Given the description of an element on the screen output the (x, y) to click on. 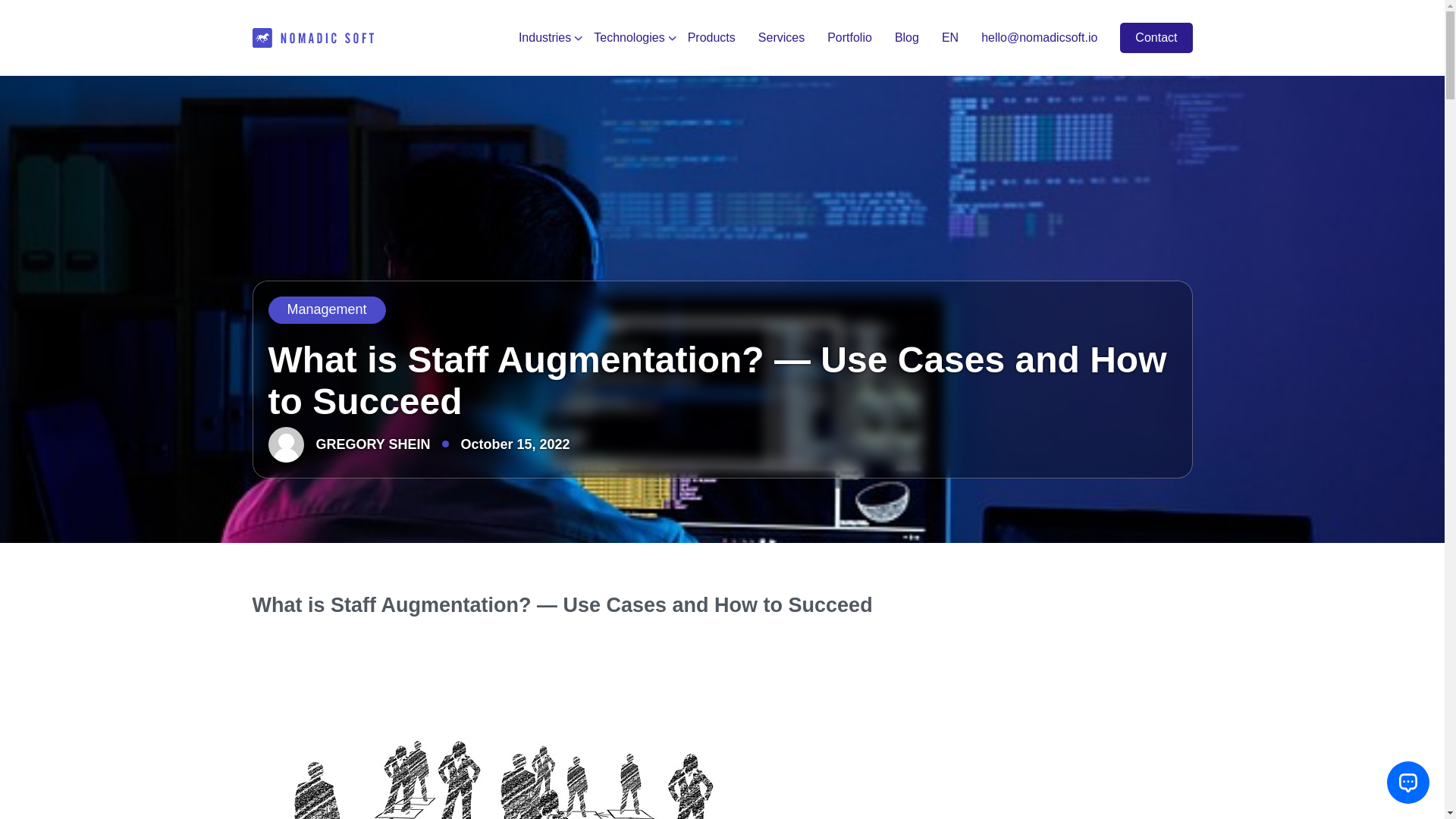
Products (711, 37)
EN (950, 37)
Portfolio (849, 37)
Industries (544, 37)
Technologies (628, 37)
Services (781, 37)
Blog (906, 37)
